Given the description of an element on the screen output the (x, y) to click on. 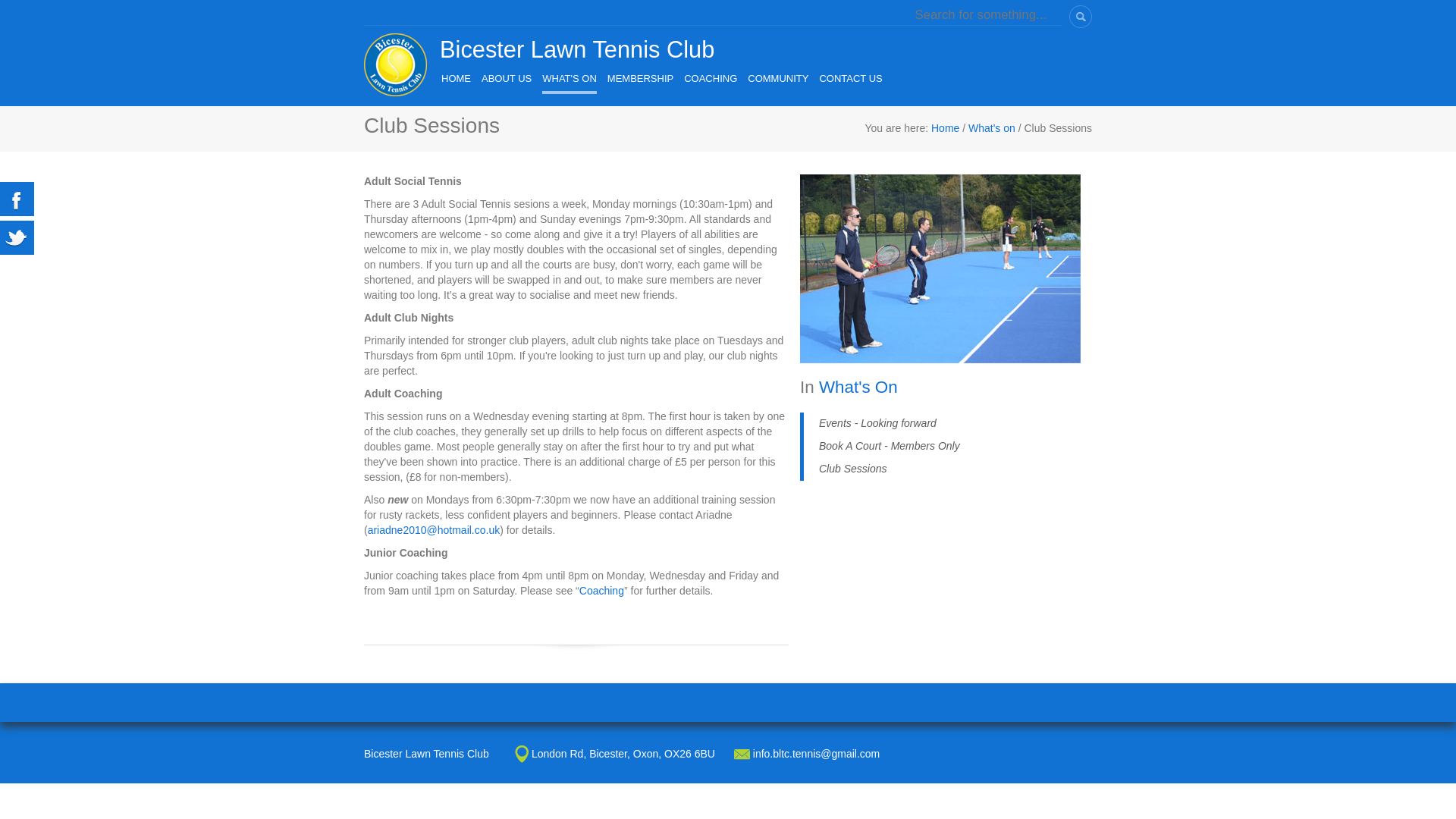
HOME (455, 80)
Go (1076, 18)
COMMUNITY (778, 80)
About us (506, 80)
COACHING (710, 80)
What's on (568, 82)
CONTACT US (850, 80)
Membership (639, 80)
Coaching (710, 80)
Home (455, 80)
